Given the description of an element on the screen output the (x, y) to click on. 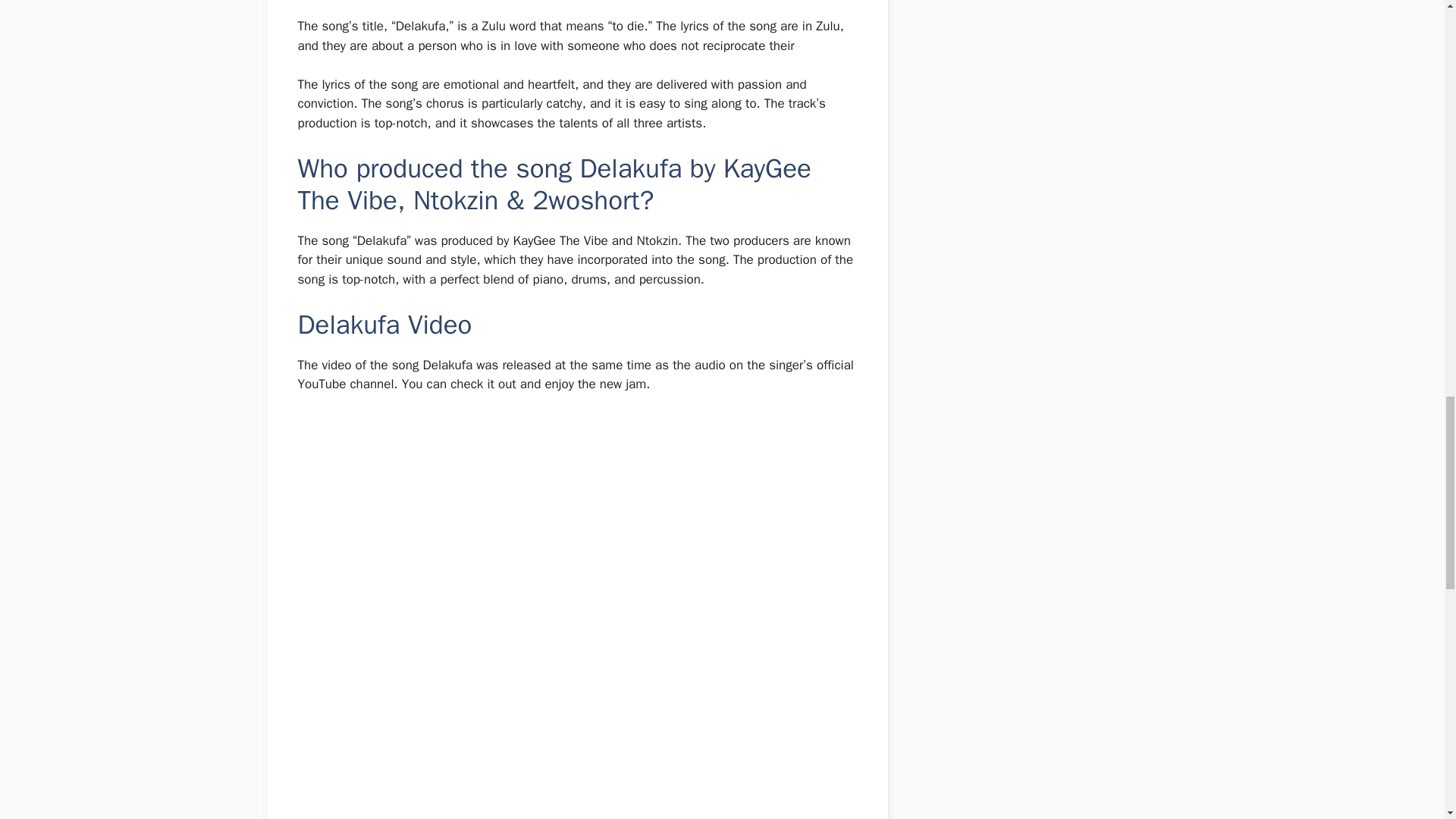
YouTube video player (509, 532)
Advertisement (569, 748)
